Given the description of an element on the screen output the (x, y) to click on. 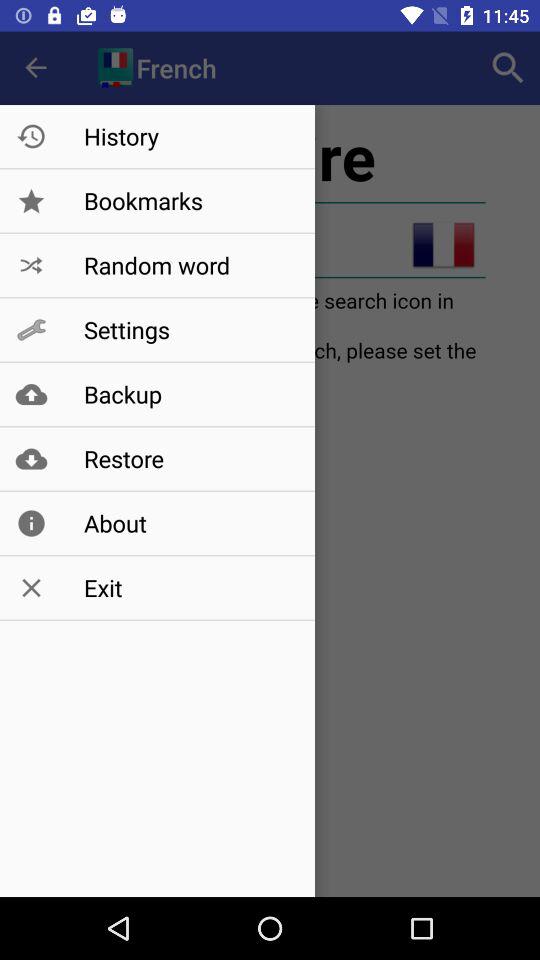
launch bookmarks (188, 200)
